Given the description of an element on the screen output the (x, y) to click on. 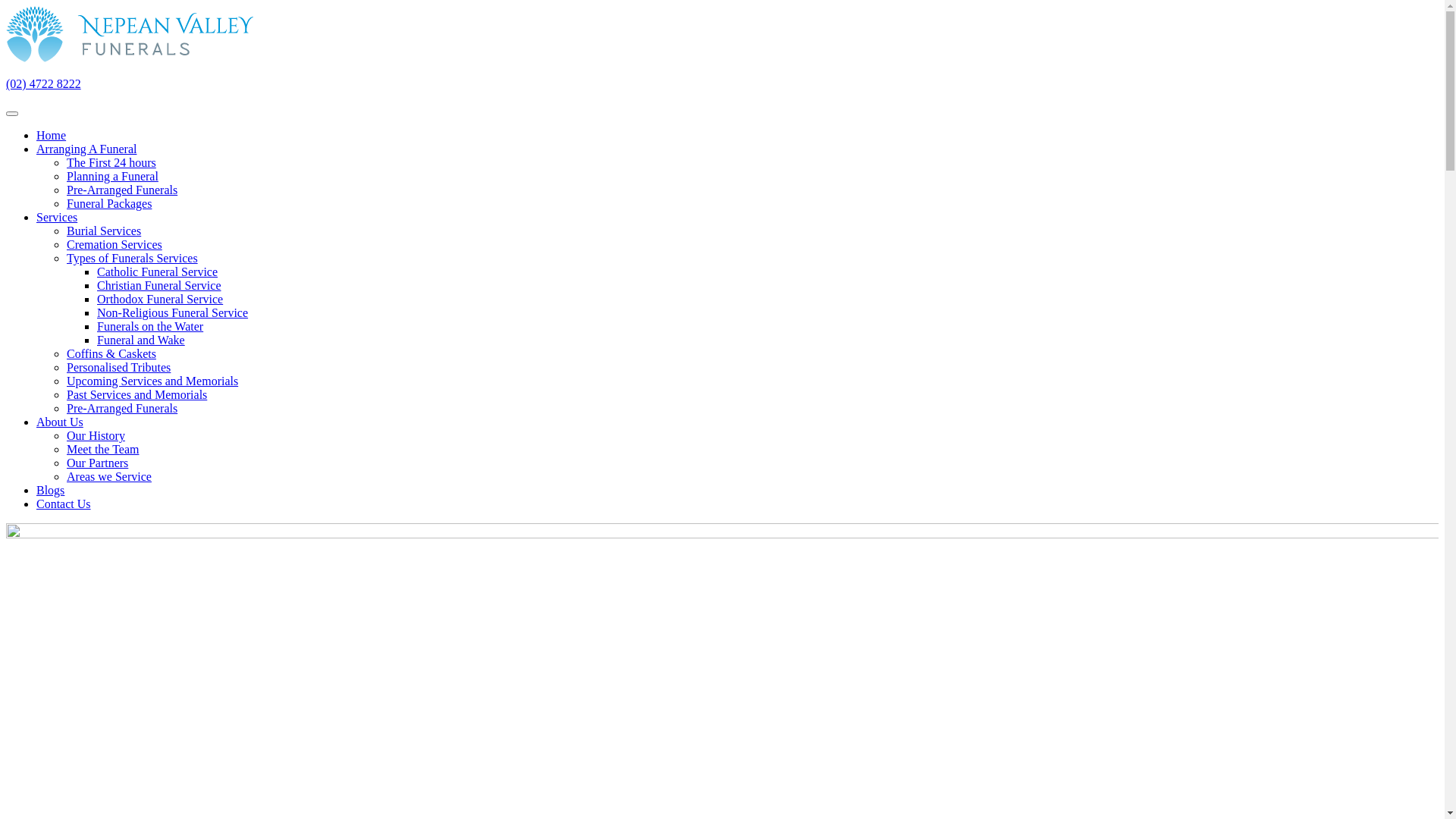
Burial Services Element type: text (103, 230)
Our Partners Element type: text (97, 462)
Personalised Tributes Element type: text (118, 366)
Catholic Funeral Service Element type: text (157, 271)
Cremation Services Element type: text (114, 244)
Orthodox Funeral Service Element type: text (159, 298)
Coffins & Caskets Element type: text (111, 353)
Pre-Arranged Funerals Element type: text (121, 407)
(02) 4722 8222 Element type: text (43, 83)
Types of Funerals Services Element type: text (131, 257)
Non-Religious Funeral Service Element type: text (172, 312)
Meet the Team Element type: text (102, 448)
Areas we Service Element type: text (108, 476)
Services Element type: text (56, 216)
Funerals on the Water Element type: text (150, 326)
Pre-Arranged Funerals Element type: text (121, 189)
Past Services and Memorials Element type: text (136, 394)
The First 24 hours Element type: text (111, 162)
Funeral and Wake Element type: text (141, 339)
Blogs Element type: text (50, 489)
Funeral Packages Element type: text (108, 203)
Christian Funeral Service Element type: text (159, 285)
Arranging A Funeral Element type: text (86, 148)
About Us Element type: text (59, 421)
Planning a Funeral Element type: text (112, 175)
Our History Element type: text (95, 435)
Home Element type: text (50, 134)
Upcoming Services and Memorials Element type: text (152, 380)
Contact Us Element type: text (63, 503)
